Given the description of an element on the screen output the (x, y) to click on. 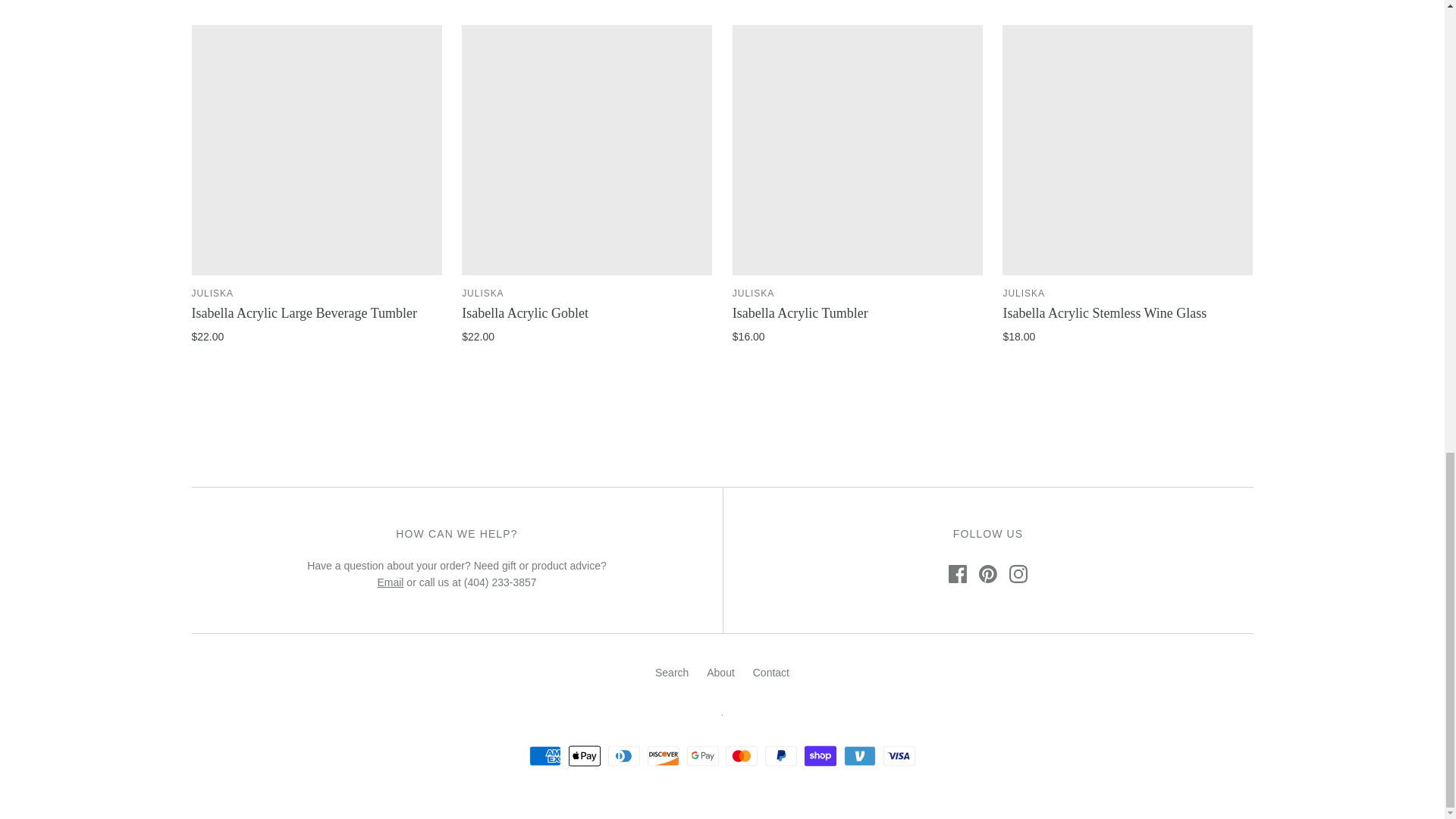
Instagram Icon (1018, 574)
Discover (663, 755)
Diners Club (624, 755)
Juliska (753, 293)
Juliska (1023, 293)
Juliska (482, 293)
Facebook Icon (957, 574)
Pinterest Icon (987, 574)
Mastercard (741, 755)
Google Pay (703, 755)
Juliska (211, 293)
Apple Pay (584, 755)
Shop Pay (820, 755)
American Express (544, 755)
PayPal (780, 755)
